Given the description of an element on the screen output the (x, y) to click on. 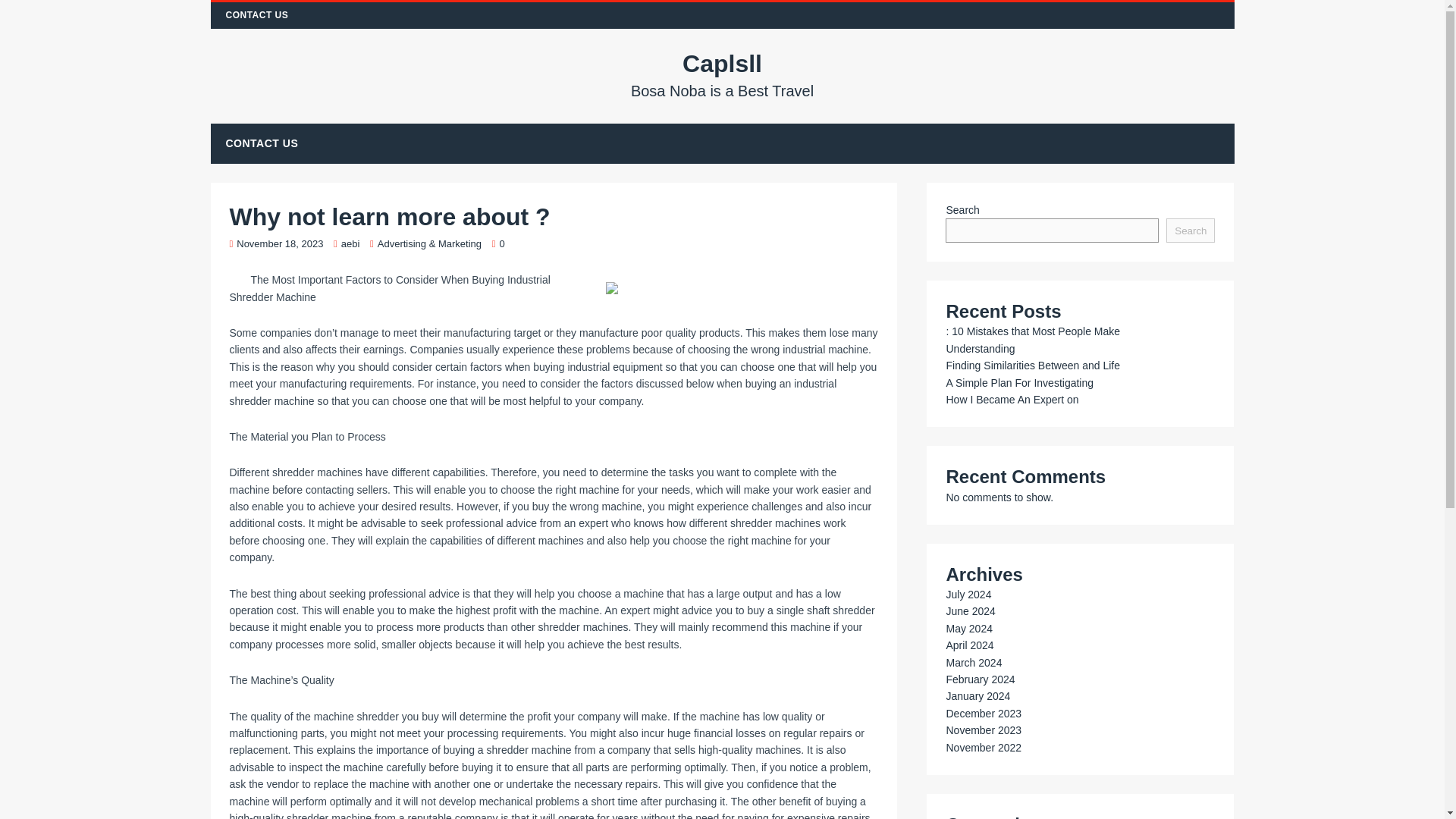
May 2024 (967, 628)
November 2023 (983, 729)
Search (1190, 230)
CONTACT US (257, 15)
aebi (349, 243)
Caplsll (722, 74)
July 2024 (967, 594)
June 2024 (969, 611)
Finding Similarities Between and Life (1031, 365)
CONTACT US (262, 142)
January 2024 (977, 695)
February 2024 (979, 679)
December 2023 (722, 74)
: 10 Mistakes that Most People Make (983, 713)
